Given the description of an element on the screen output the (x, y) to click on. 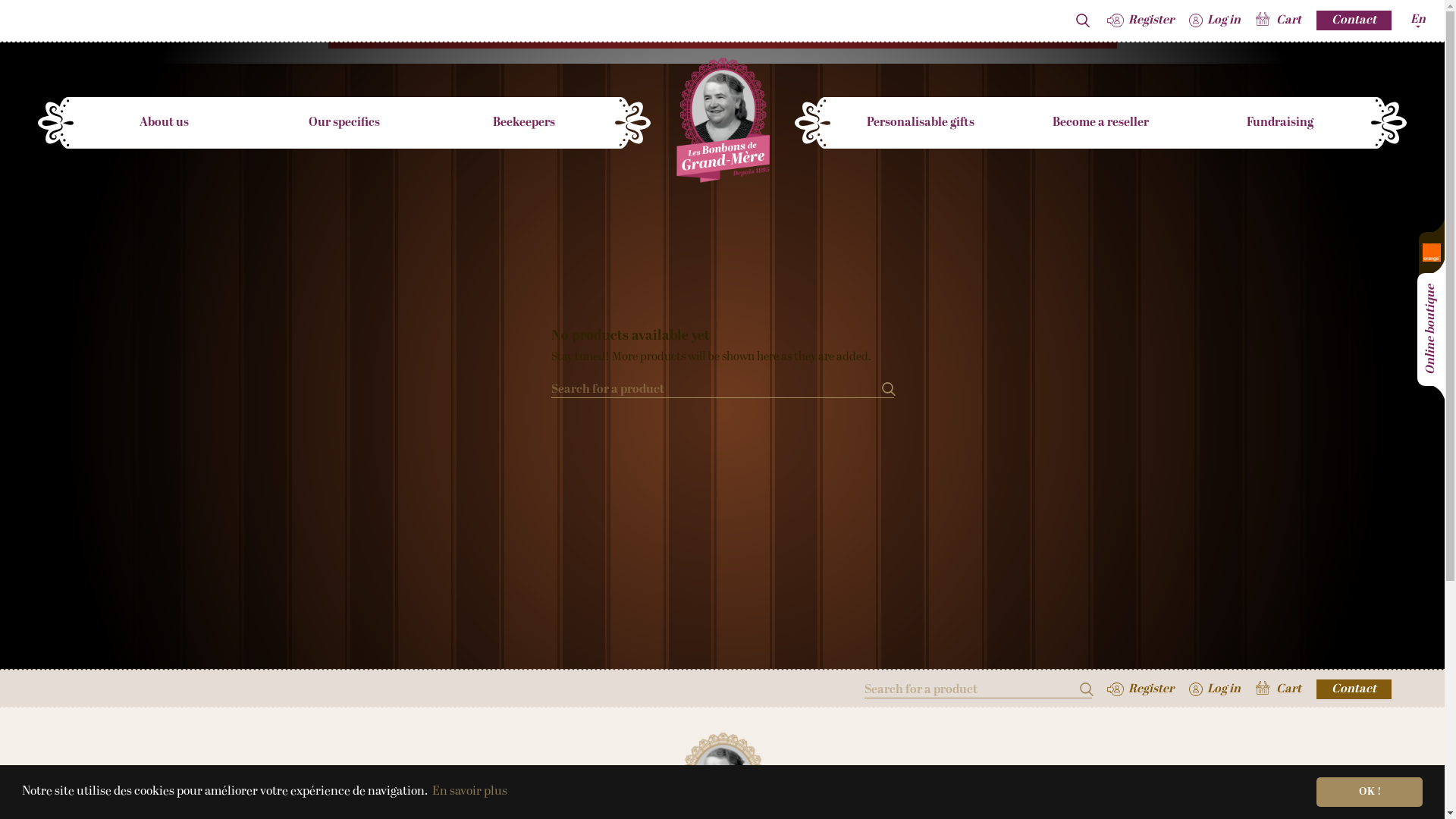
Log in Element type: text (1214, 689)
Fundraising Element type: text (1280, 122)
Log in Element type: text (1214, 20)
Register Element type: text (1140, 20)
Contact Element type: text (1353, 20)
Become a reseller Element type: text (1100, 122)
Register Element type: text (1140, 689)
Search for a product Element type: hover (887, 388)
OK ! Element type: text (1369, 791)
Search for a product Element type: hover (1082, 20)
En savoir plus Element type: text (469, 791)
Personalisable gifts Element type: text (920, 122)
Vers la page Accueil Element type: hover (722, 120)
Cart Element type: text (1278, 689)
Our specifics Element type: text (344, 122)
Cart Element type: text (1278, 20)
Beekeepers Element type: text (523, 122)
Contact Element type: text (1353, 689)
About us Element type: text (163, 122)
Search for a product Element type: hover (1085, 688)
